Given the description of an element on the screen output the (x, y) to click on. 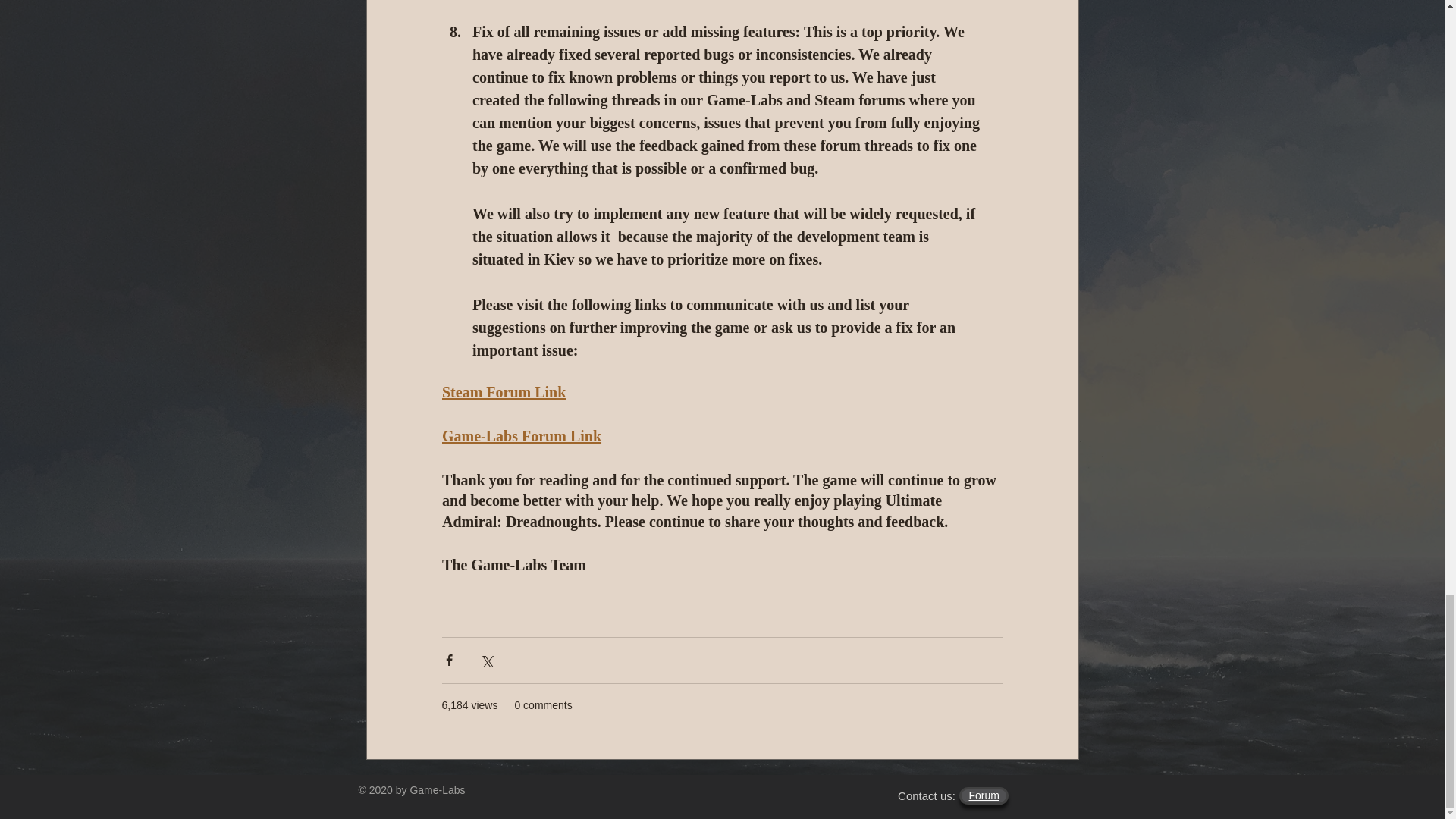
Steam Forum Link (502, 392)
Game-Labs Forum Link (520, 435)
Forum (983, 795)
